Given the description of an element on the screen output the (x, y) to click on. 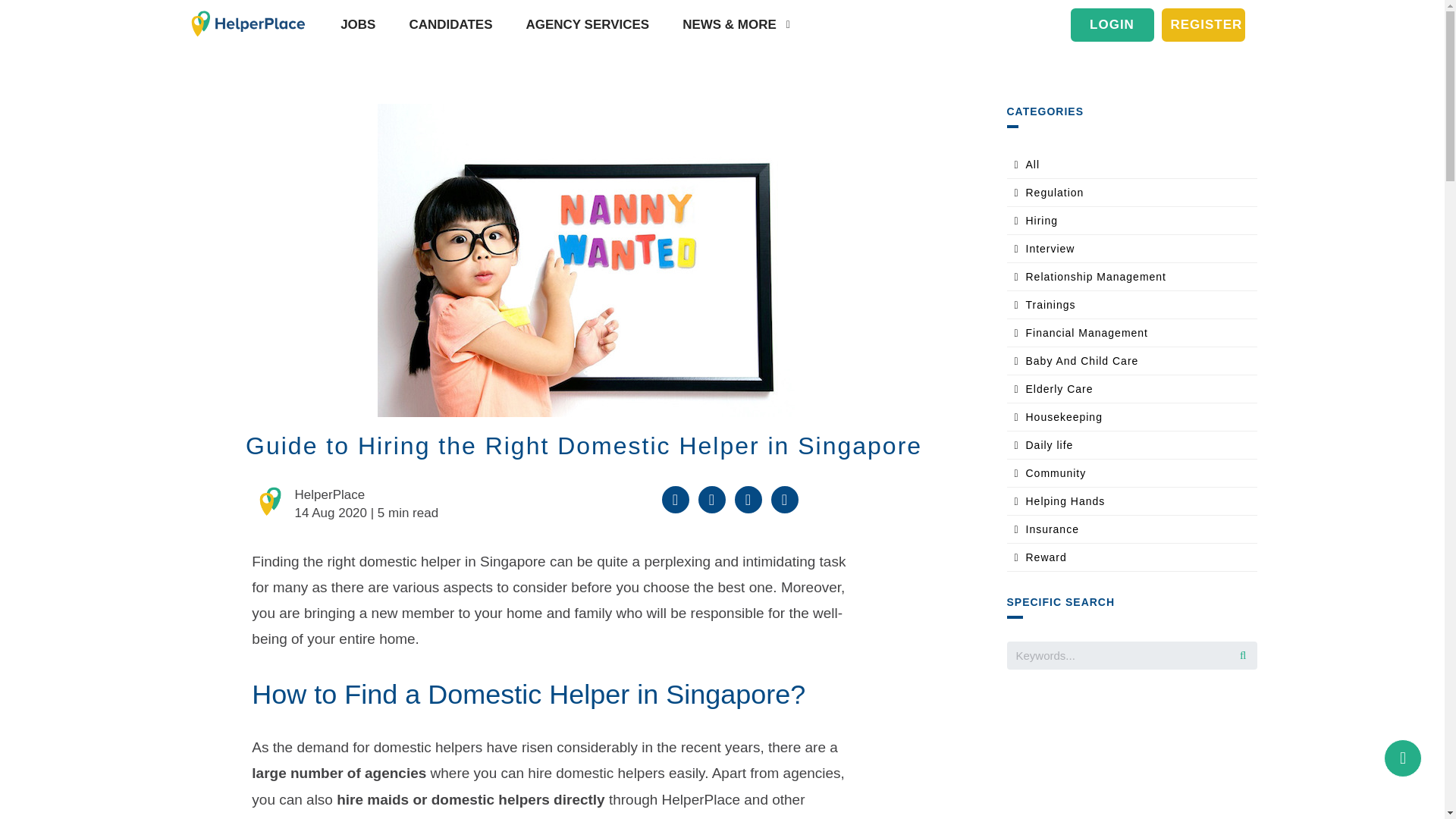
Regulation (1054, 192)
Hiring (1041, 220)
AGENCY SERVICES (583, 24)
Share on facebook (675, 499)
JOBS (354, 24)
Share on whatsapp (747, 499)
Share on linkedin (784, 499)
All (1032, 164)
Share on twitter (711, 499)
REGISTER (1202, 23)
LOGIN (1112, 23)
CANDIDATES (446, 24)
